Given the description of an element on the screen output the (x, y) to click on. 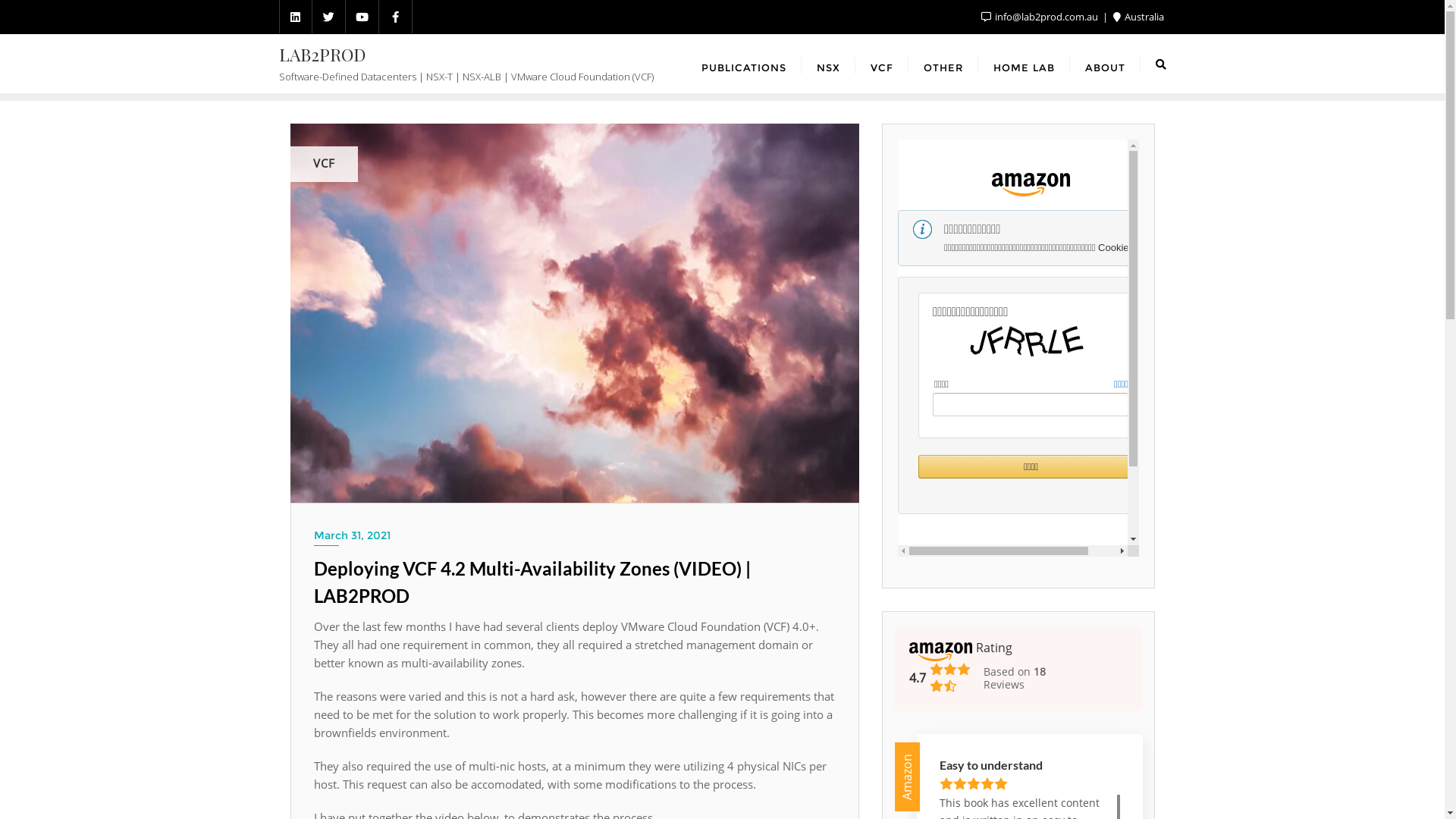
OTHER Element type: text (943, 63)
HOME LAB Element type: text (1024, 63)
ABOUT Element type: text (1104, 63)
NSX Element type: text (827, 63)
PUBLICATIONS Element type: text (742, 63)
VCF Element type: text (881, 63)
March 31, 2021 Element type: text (574, 535)
